Given the description of an element on the screen output the (x, y) to click on. 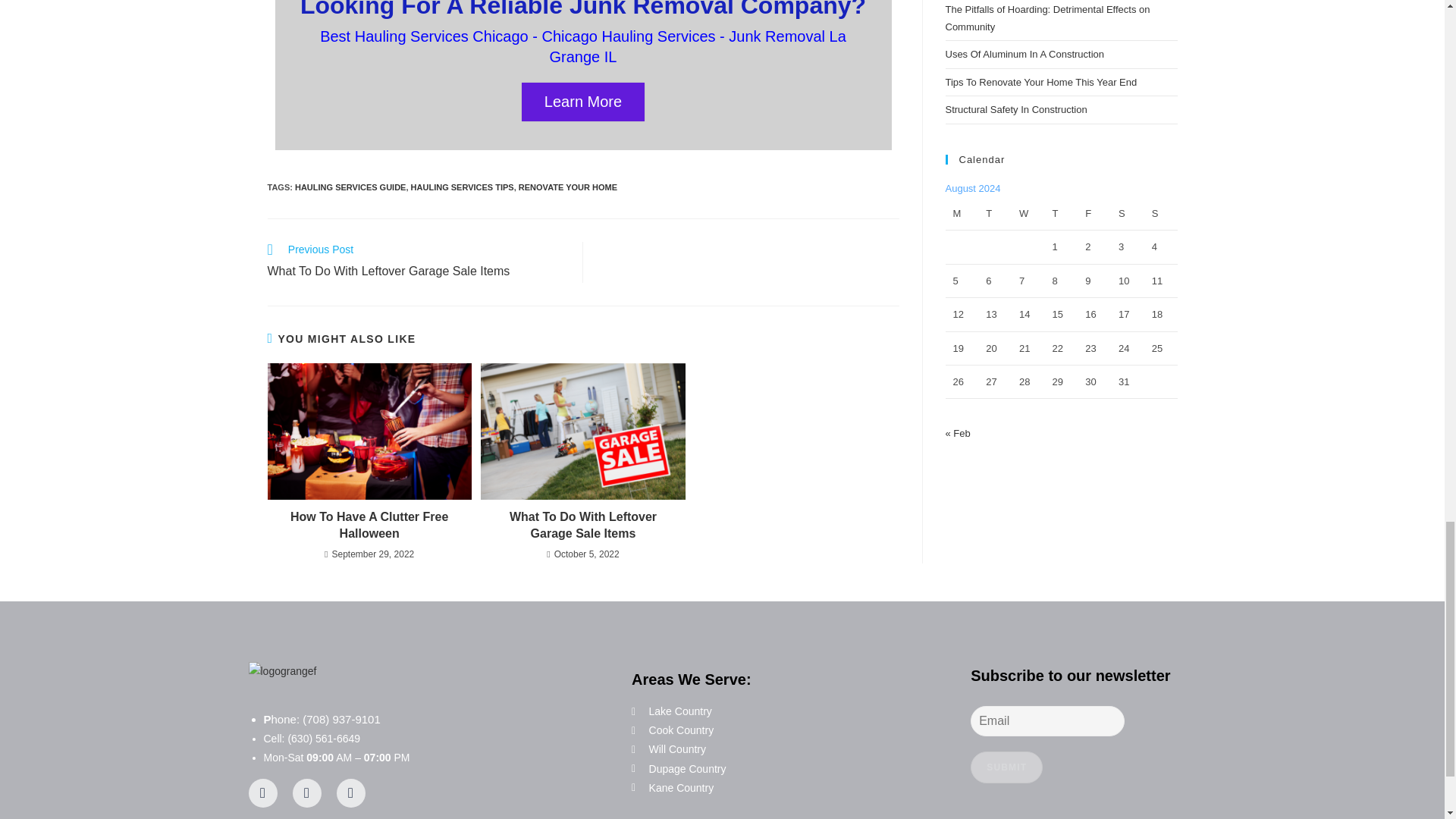
Tuesday (994, 213)
Friday (1093, 213)
Monday (961, 213)
Sunday (1160, 213)
Wednesday (1028, 213)
Saturday (1127, 213)
Thursday (1061, 213)
